Given the description of an element on the screen output the (x, y) to click on. 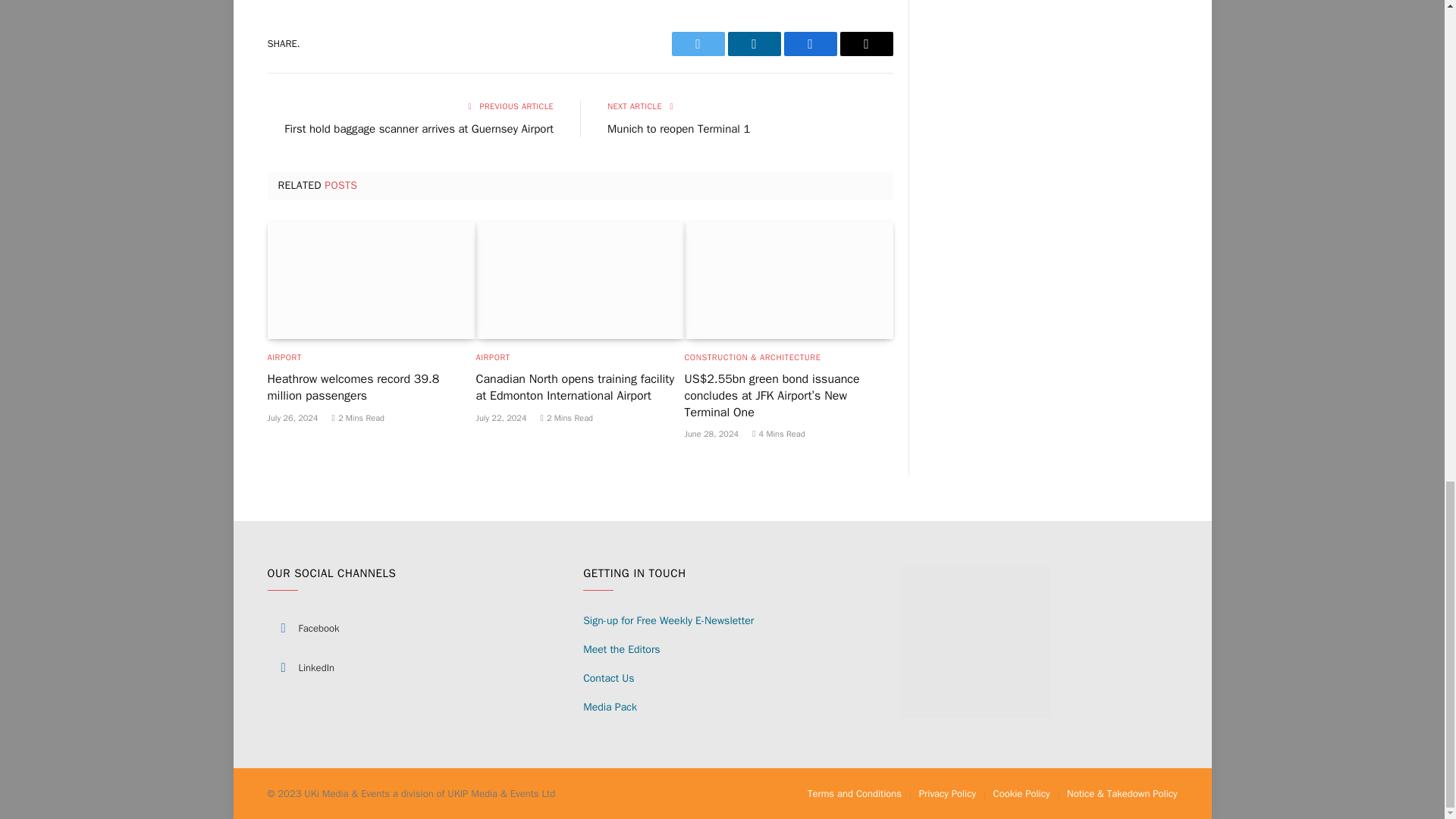
Share via Email (866, 43)
Heathrow welcomes record 39.8 million passengers (371, 280)
Share on LinkedIn (754, 43)
Share on Facebook (810, 43)
